Given the description of an element on the screen output the (x, y) to click on. 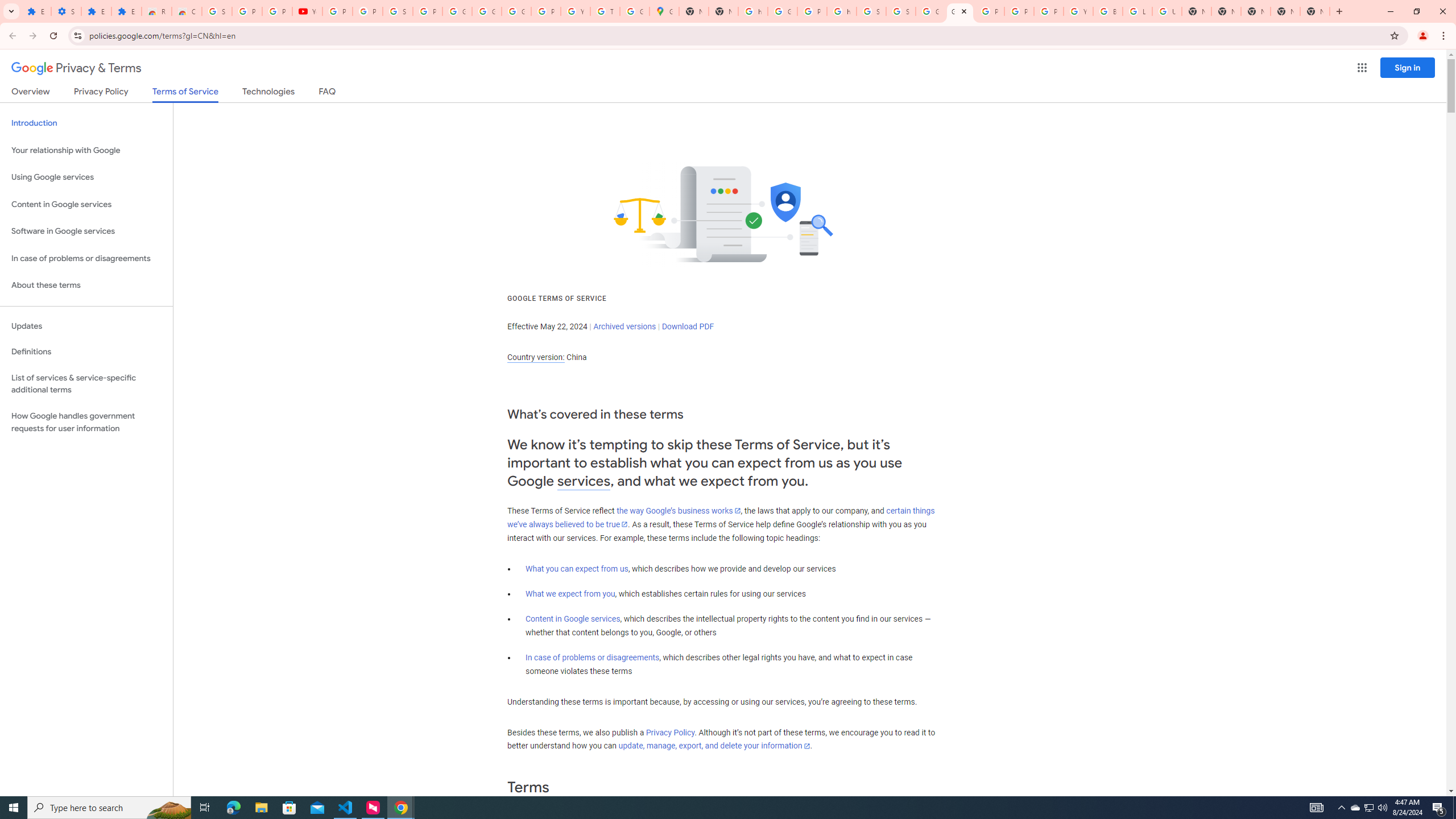
https://scholar.google.com/ (841, 11)
List of services & service-specific additional terms (86, 383)
What we expect from you (570, 593)
Privacy Help Center - Policies Help (1018, 11)
New Tab (1226, 11)
Country version: (535, 357)
Extensions (36, 11)
Software in Google services (86, 230)
Archived versions (624, 326)
Using Google services (86, 176)
